Given the description of an element on the screen output the (x, y) to click on. 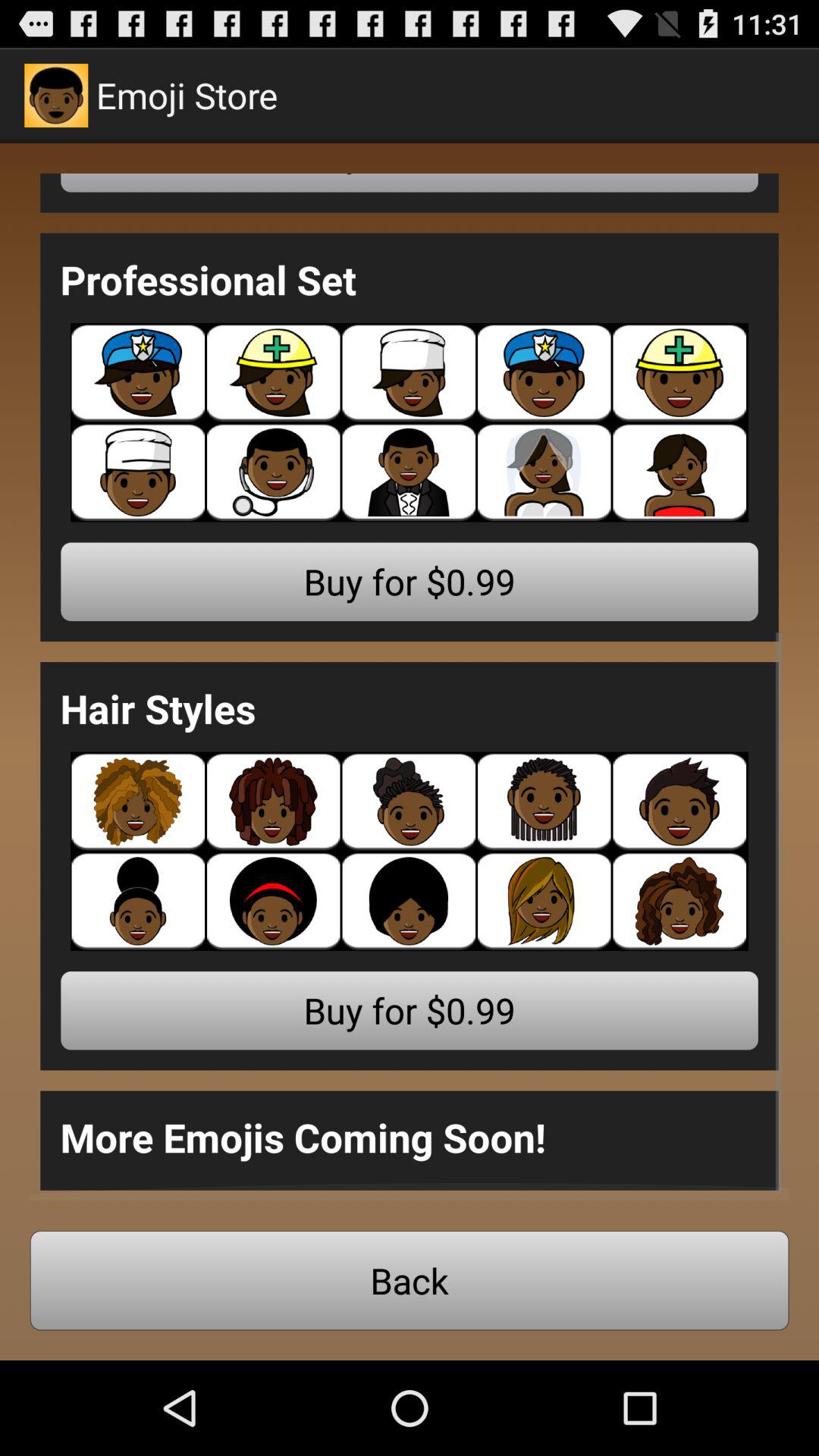
jump until the back (409, 1280)
